Given the description of an element on the screen output the (x, y) to click on. 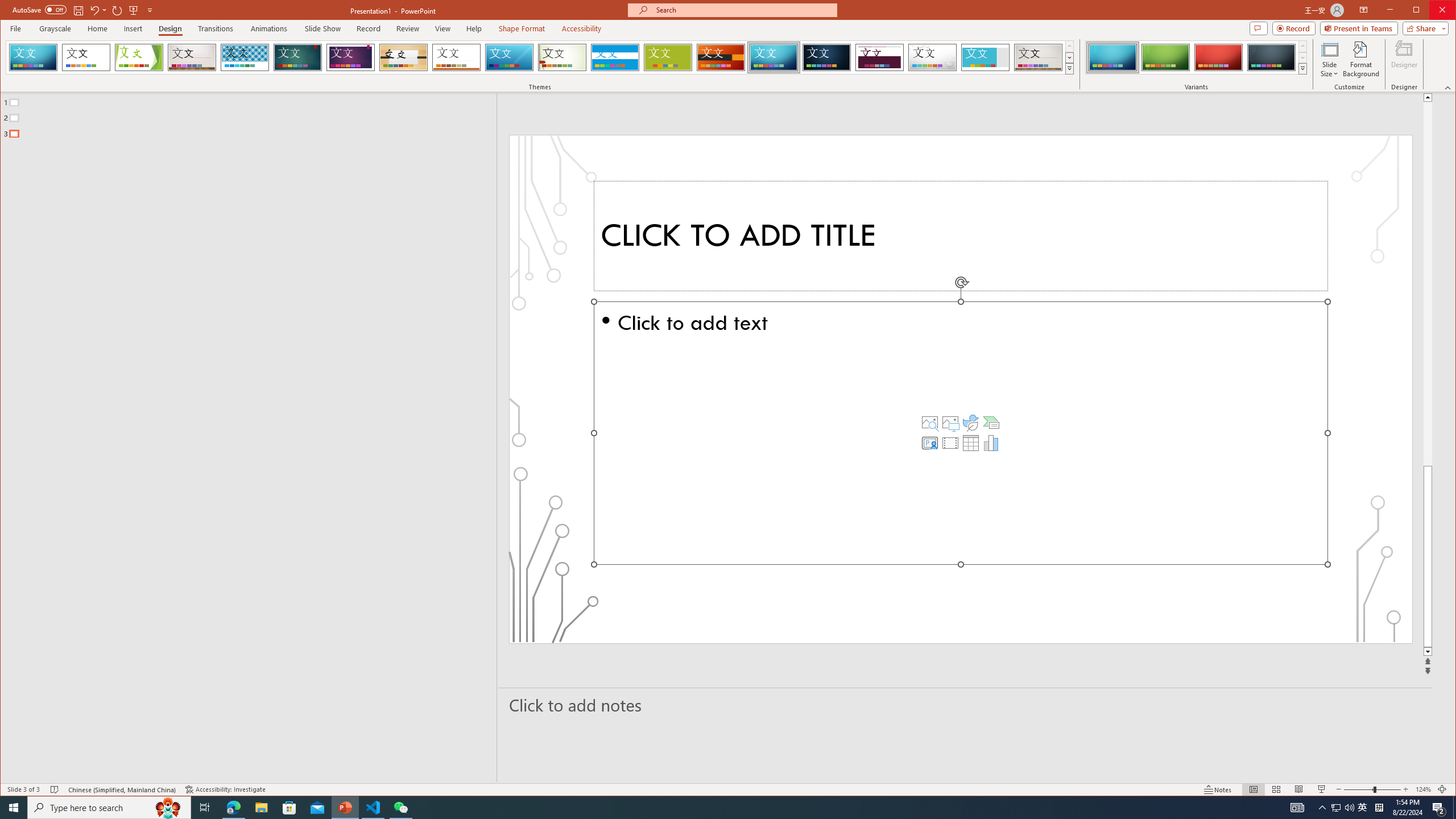
Review (407, 28)
Damask (826, 57)
Running applications (707, 807)
Insert an Icon (970, 422)
Circuit (773, 57)
AutomationID: 4105 (1297, 807)
Notification Chevron (1322, 807)
Row up (1302, 46)
Slide Show (1321, 789)
From Beginning (133, 9)
Home (97, 28)
AutomationID: ThemeVariantsGallery (1196, 57)
Organic (403, 57)
